Given the description of an element on the screen output the (x, y) to click on. 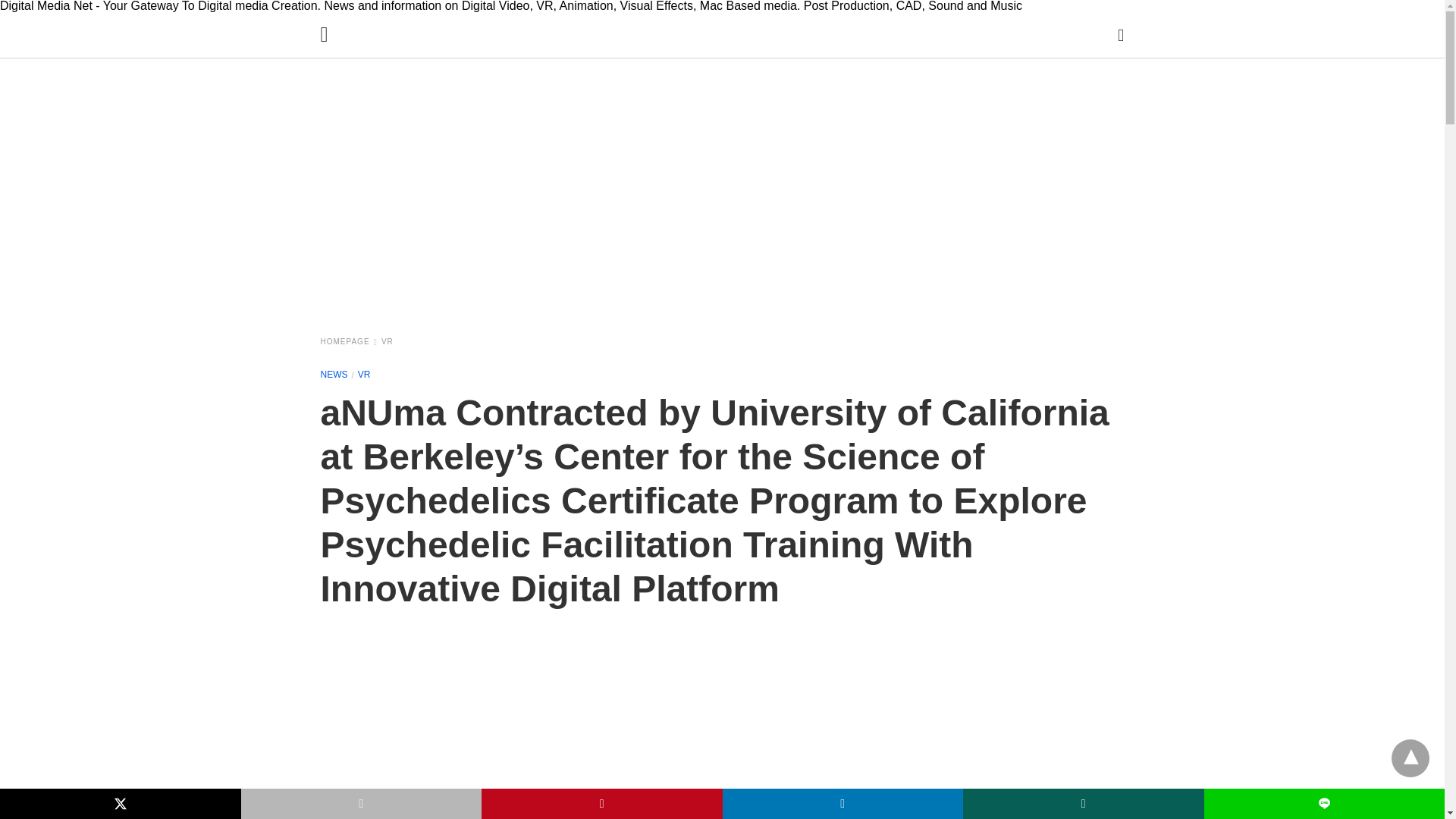
HOMEPAGE (348, 341)
VR (387, 341)
VR (364, 374)
VR (364, 374)
News (333, 374)
VR (387, 341)
Digital Media Net (725, 54)
NEWS (333, 374)
Homepage (348, 341)
search (1121, 34)
